Given the description of an element on the screen output the (x, y) to click on. 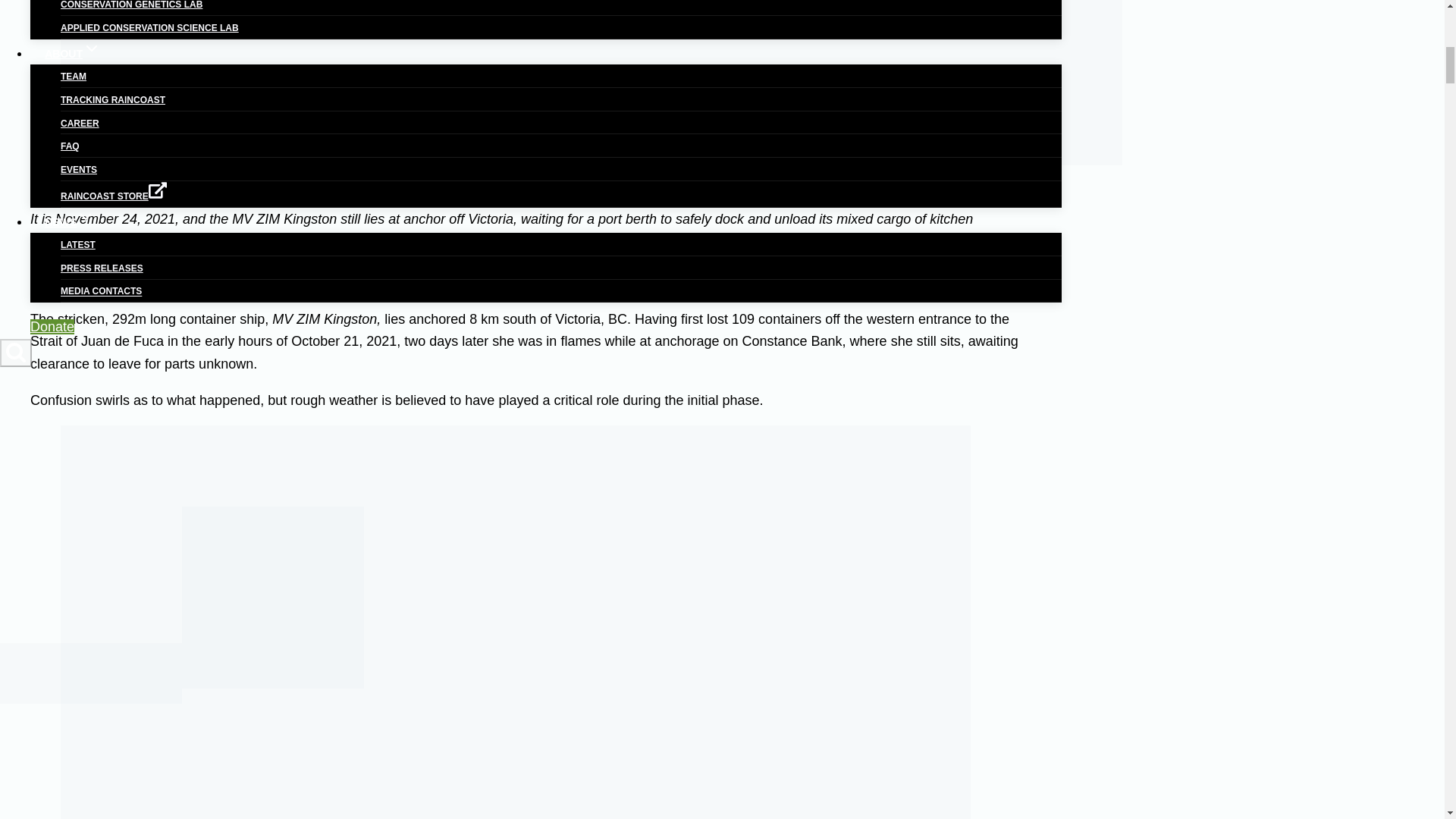
ABOUTEXPAND (72, 52)
RAINCOAST STORE (114, 196)
PRESS RELEASES (101, 268)
MEDIA CONTACTS (101, 291)
TRACKING RAINCOAST (113, 99)
November 4, 2021 (840, 241)
Search (15, 351)
EXPAND (85, 217)
MAPPING (82, 0)
Search (16, 352)
